Given the description of an element on the screen output the (x, y) to click on. 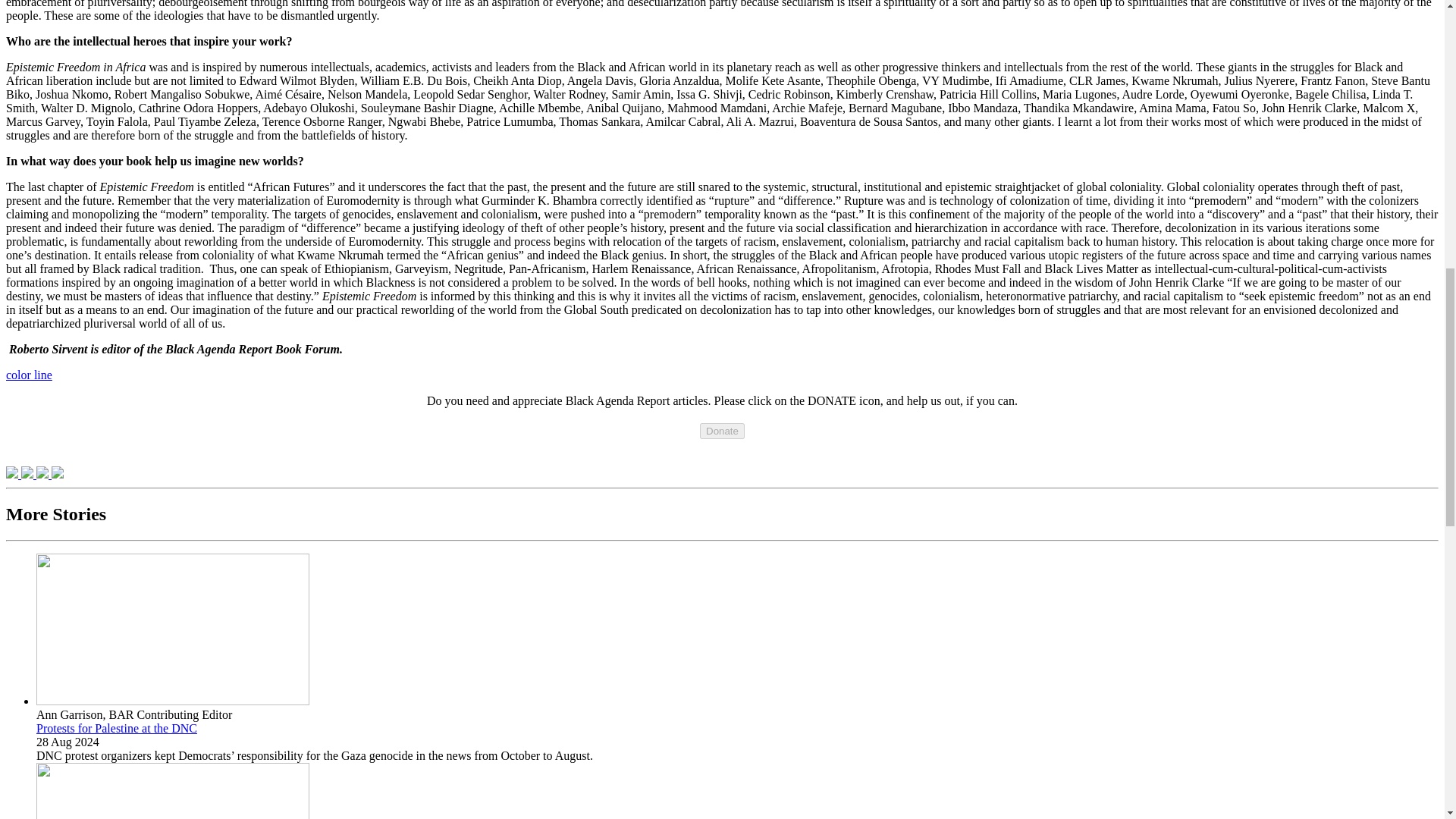
Donate (722, 430)
color line (28, 374)
Donate (722, 430)
Protests for Palestine at the DNC (116, 727)
